Given the description of an element on the screen output the (x, y) to click on. 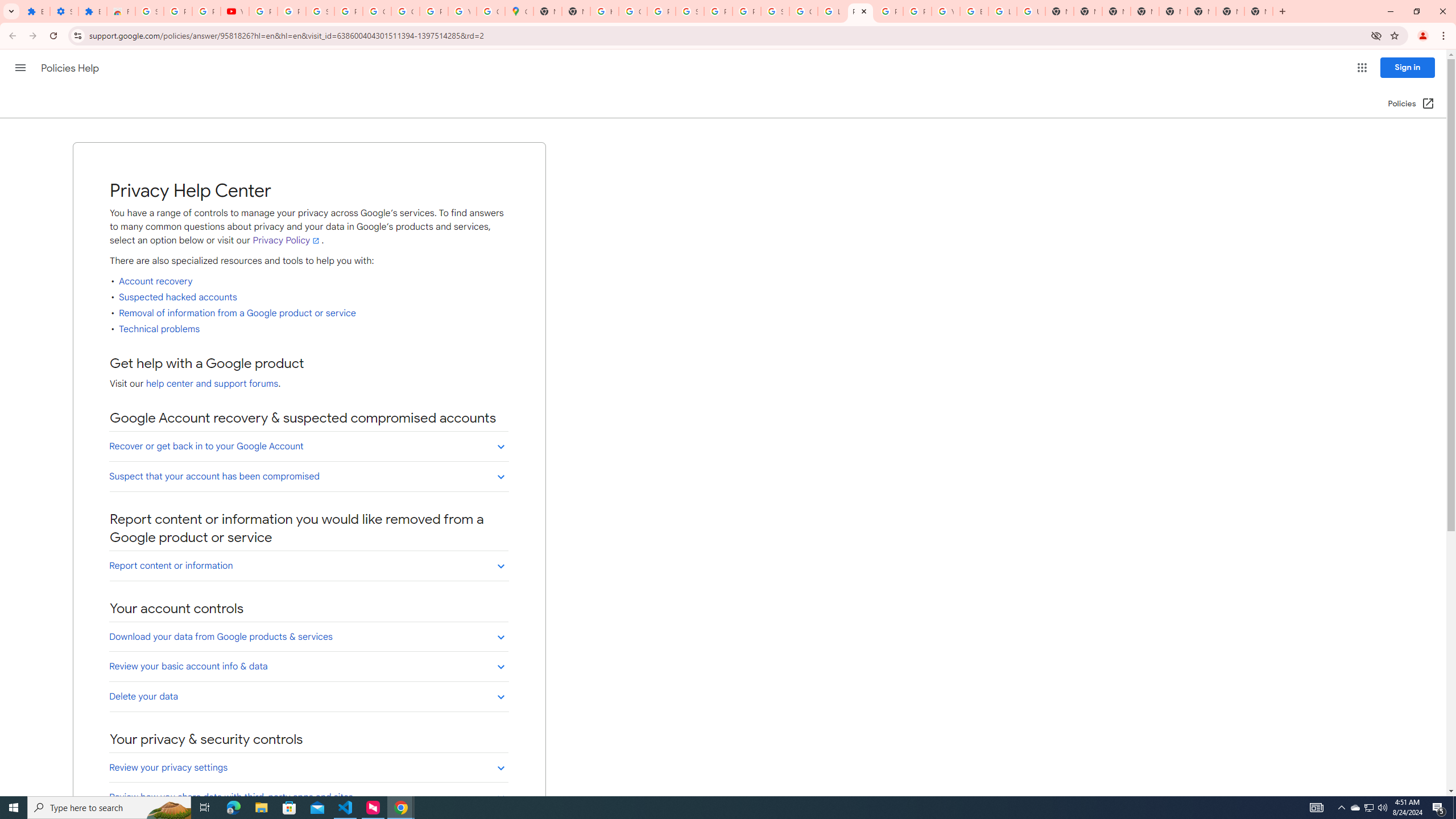
help center and support forums (211, 383)
Technical problems (159, 328)
YouTube (234, 11)
YouTube (945, 11)
